Given the description of an element on the screen output the (x, y) to click on. 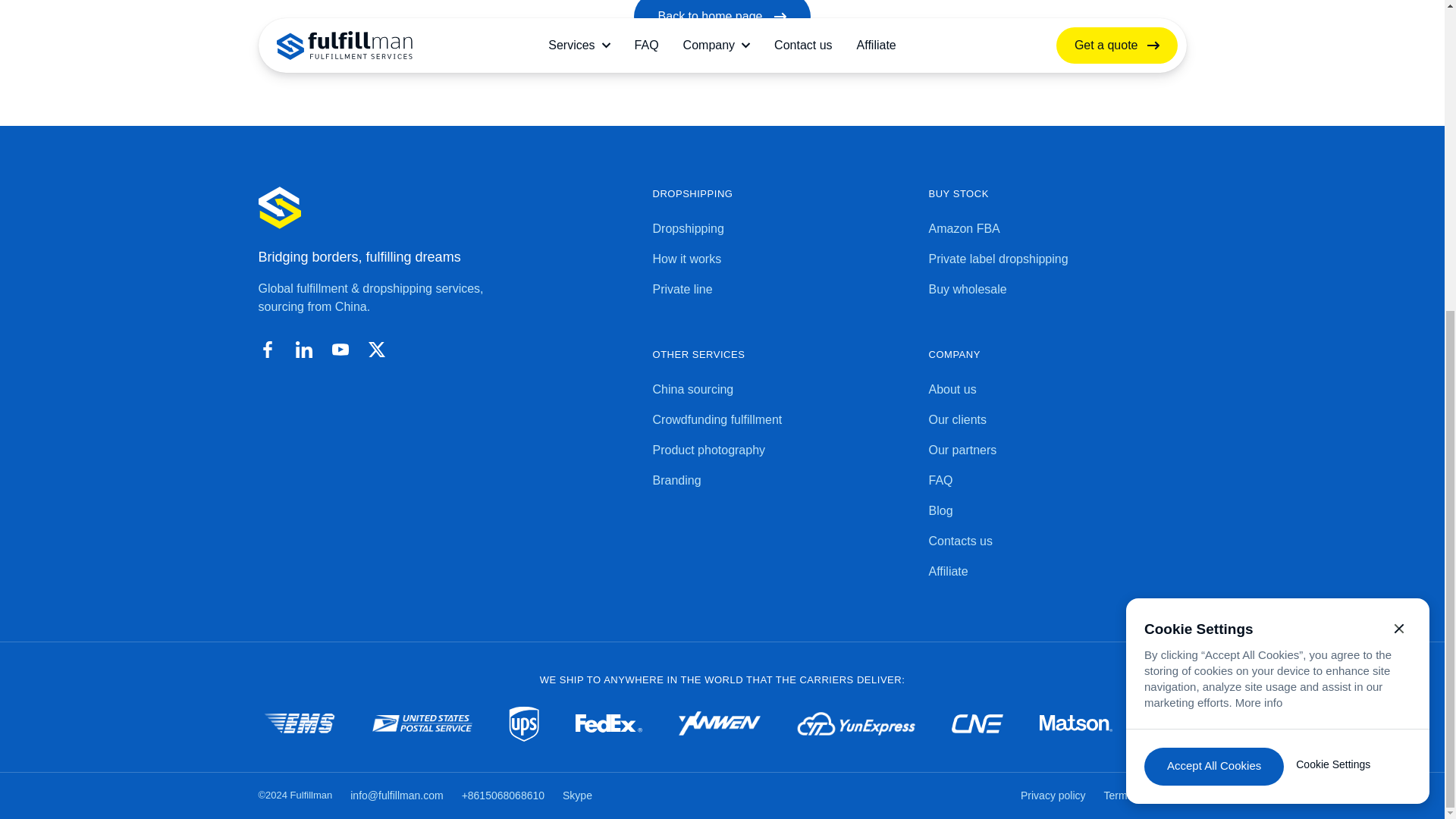
Buy wholesale (1057, 289)
Our partners (1057, 450)
China sourcing (781, 389)
Private label dropshipping (1057, 259)
About us (1057, 389)
Back to home page (721, 20)
Crowdfunding fulfillment (781, 420)
Private line (781, 289)
Dropshipping (781, 229)
Product photography (781, 450)
